Given the description of an element on the screen output the (x, y) to click on. 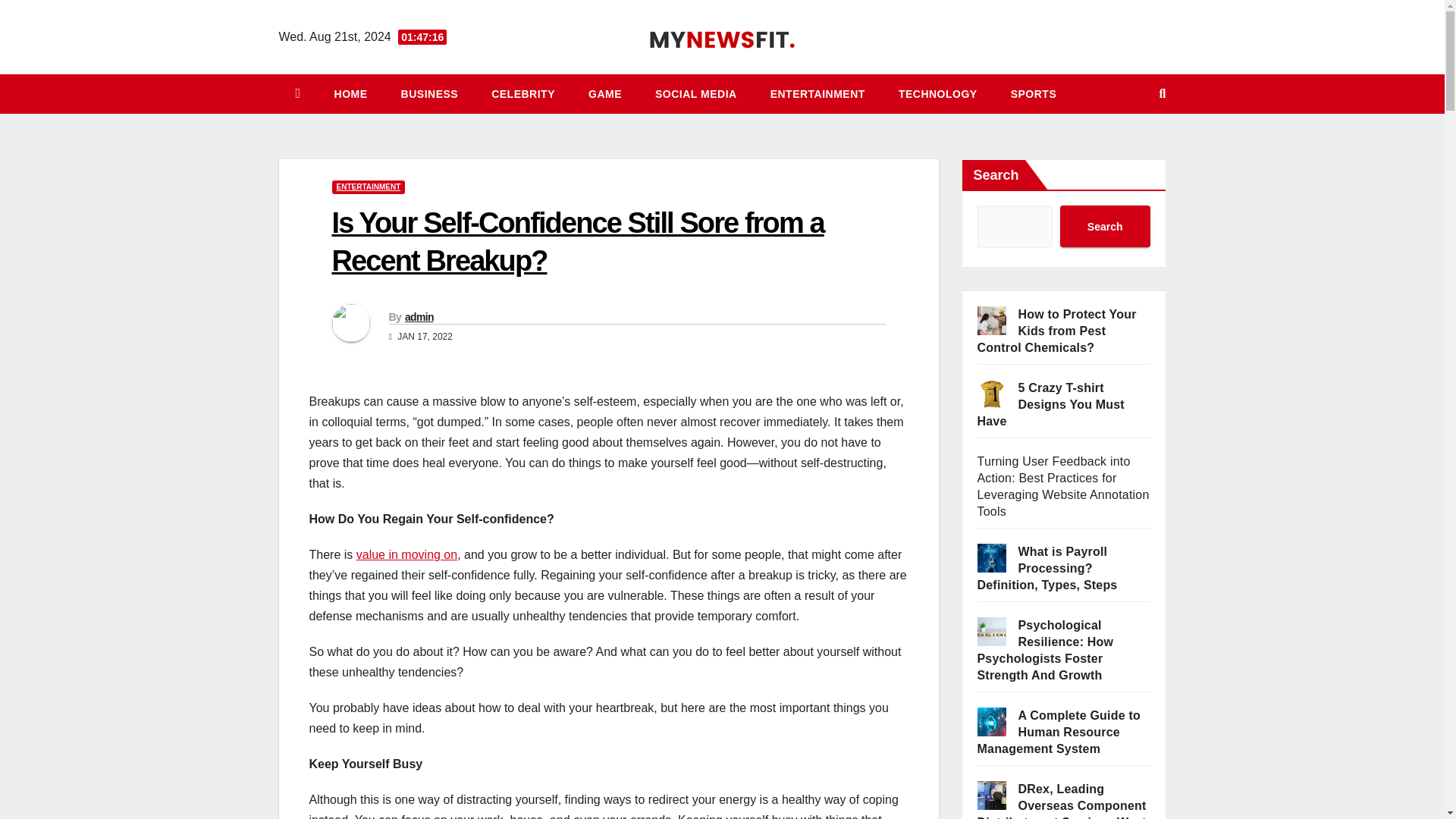
admin (418, 316)
Celebrity (523, 93)
ENTERTAINMENT (368, 187)
Business (430, 93)
Game (605, 93)
Is Your Self-Confidence Still Sore from a Recent Breakup? (577, 241)
SOCIAL MEDIA (696, 93)
Home (350, 93)
value in moving on (406, 554)
